Given the description of an element on the screen output the (x, y) to click on. 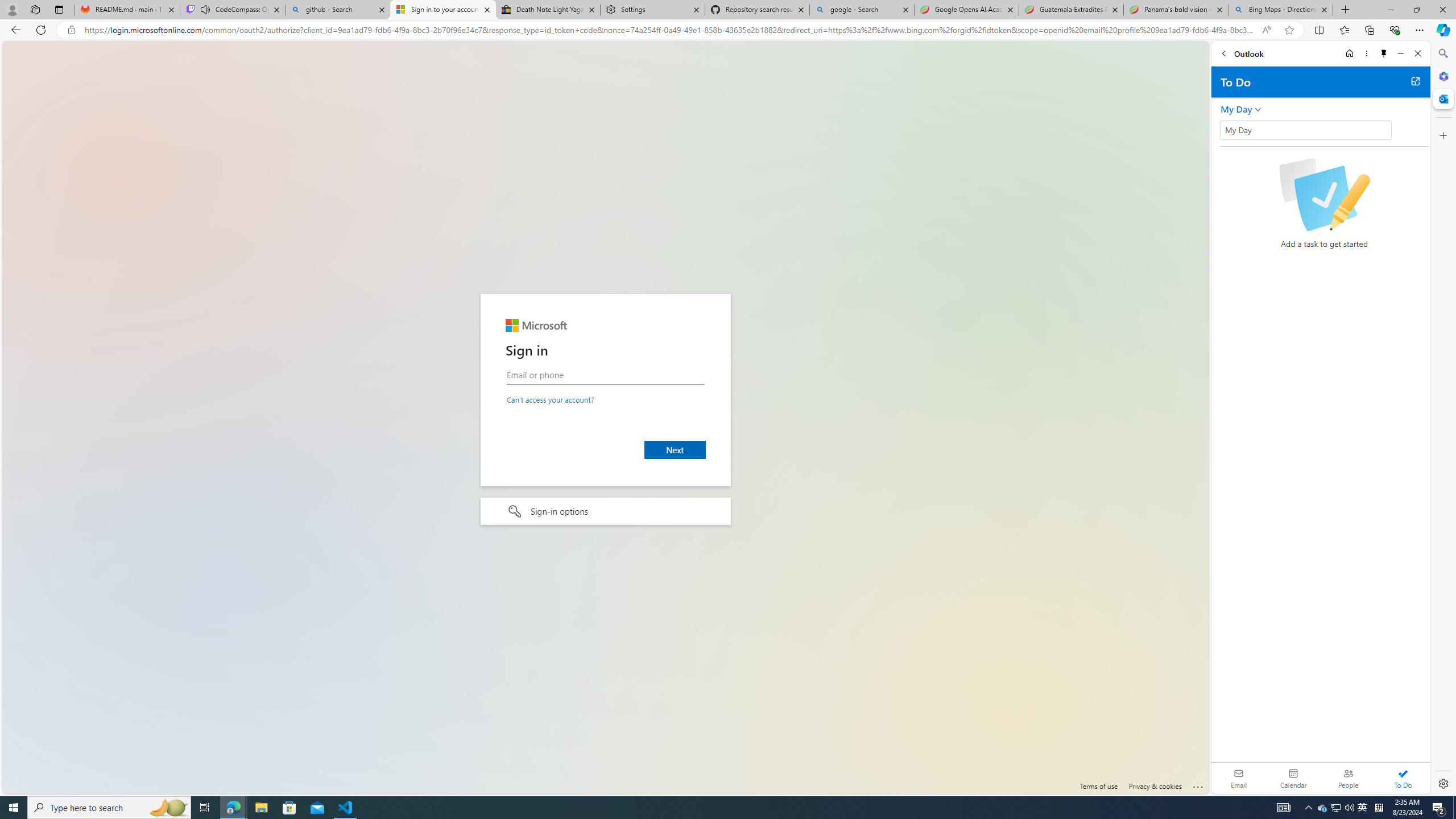
Checkbox with a pencil (1324, 194)
Sign-in options (605, 511)
My Day (1305, 130)
github - Search (337, 9)
Calendar. Date today is 22 (1293, 777)
Privacy & cookies (1155, 786)
